Given the description of an element on the screen output the (x, y) to click on. 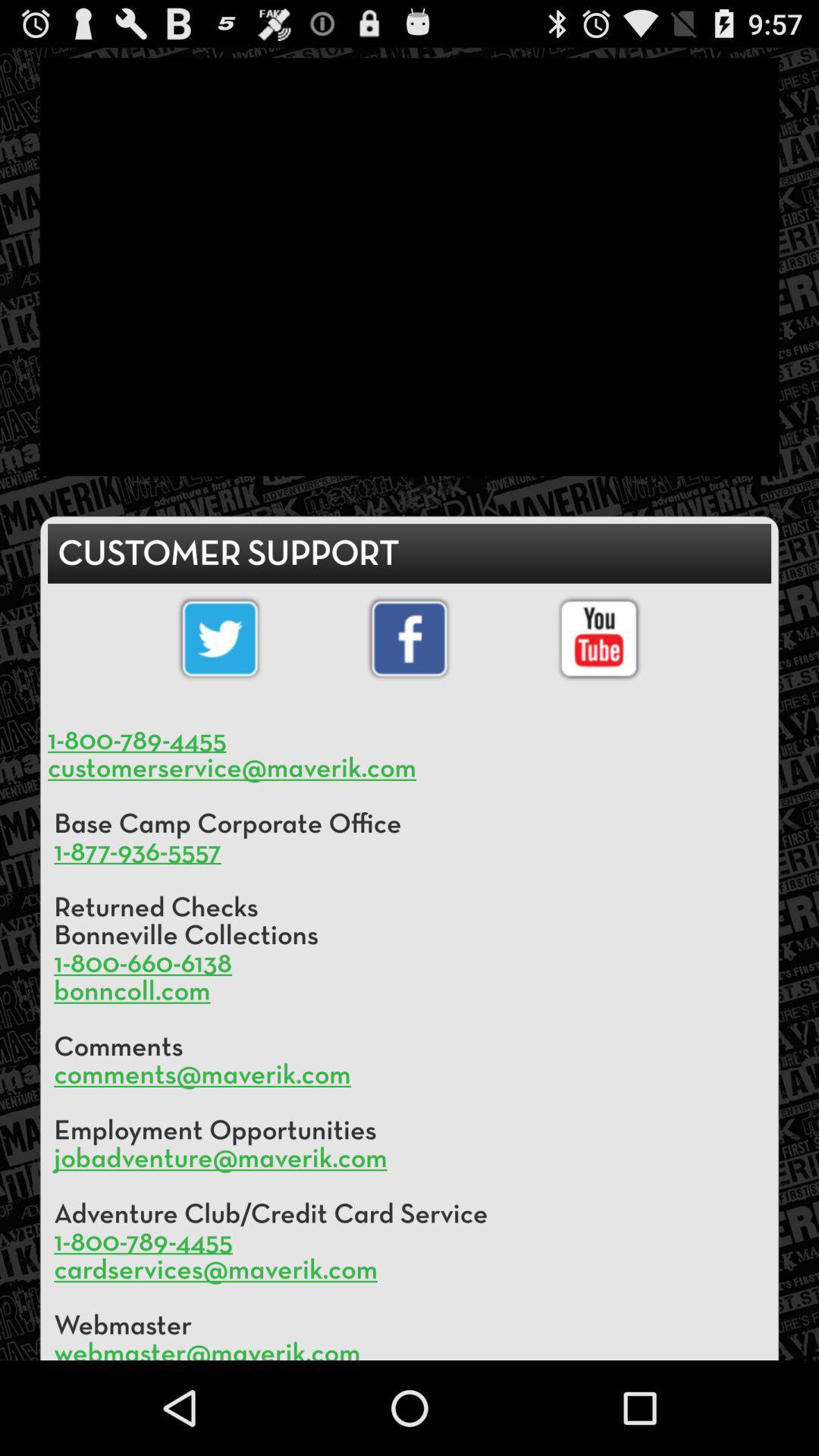
facebook (409, 638)
